Given the description of an element on the screen output the (x, y) to click on. 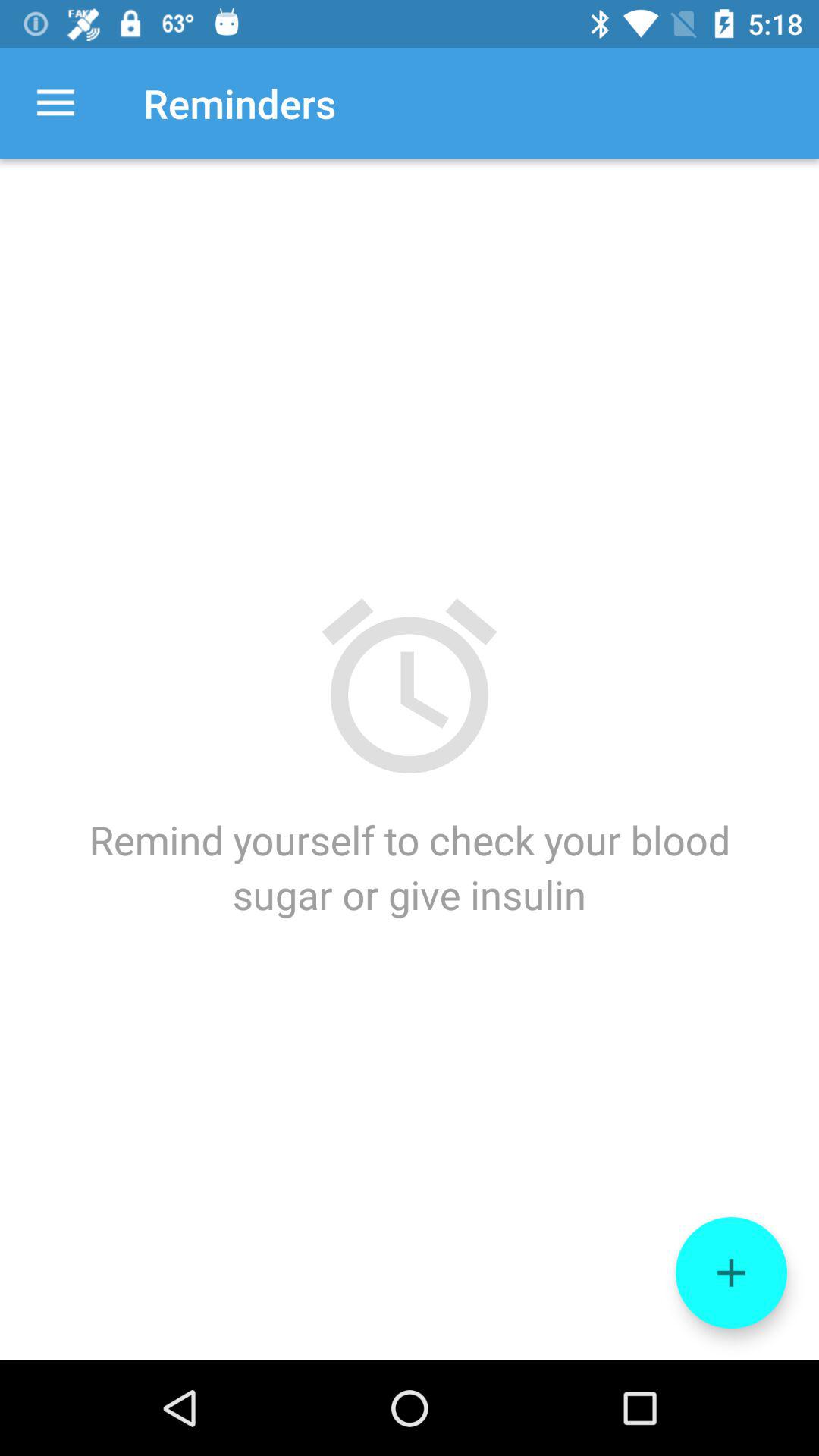
add reminder (731, 1272)
